Given the description of an element on the screen output the (x, y) to click on. 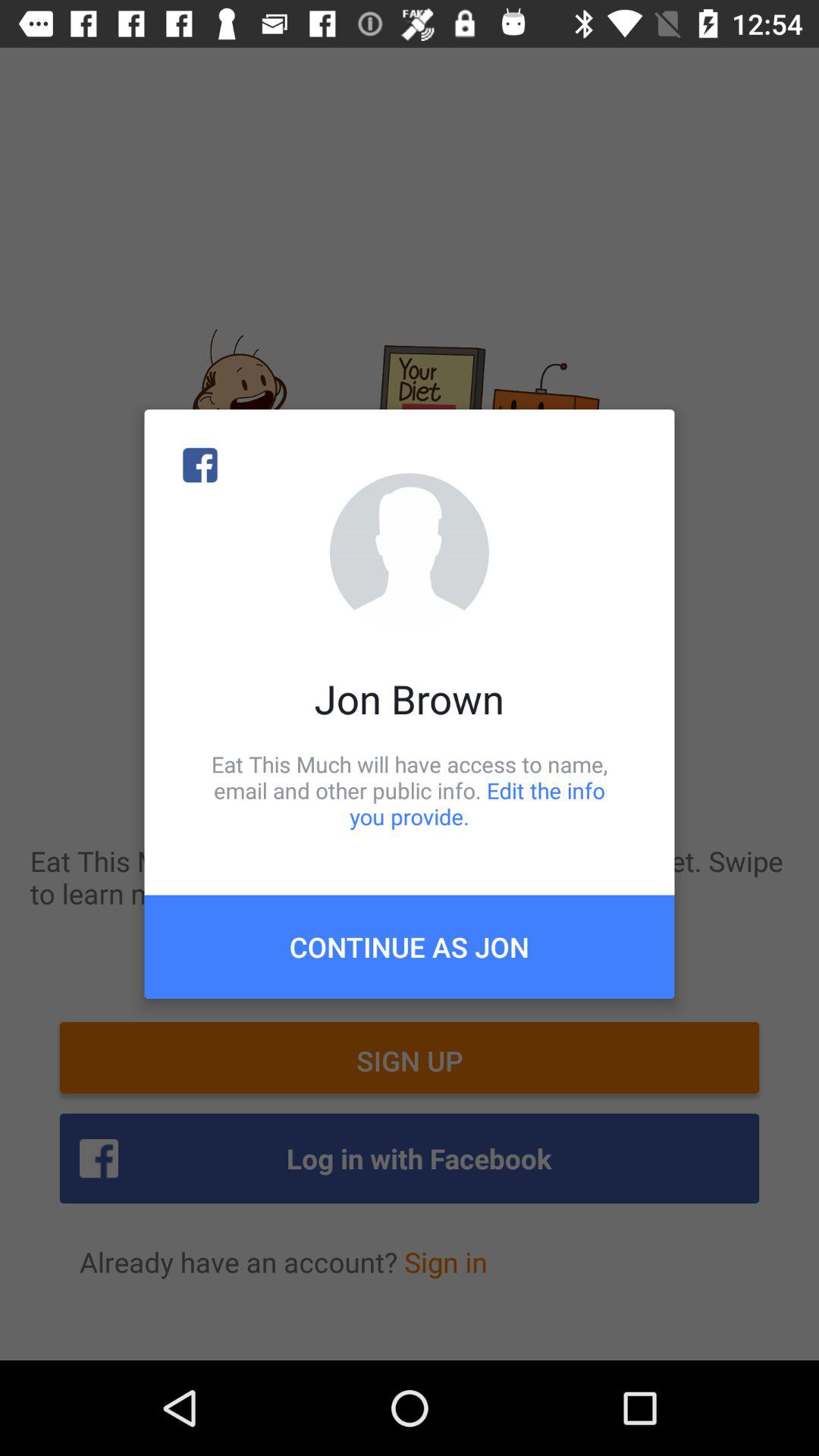
scroll to the eat this much item (409, 790)
